Given the description of an element on the screen output the (x, y) to click on. 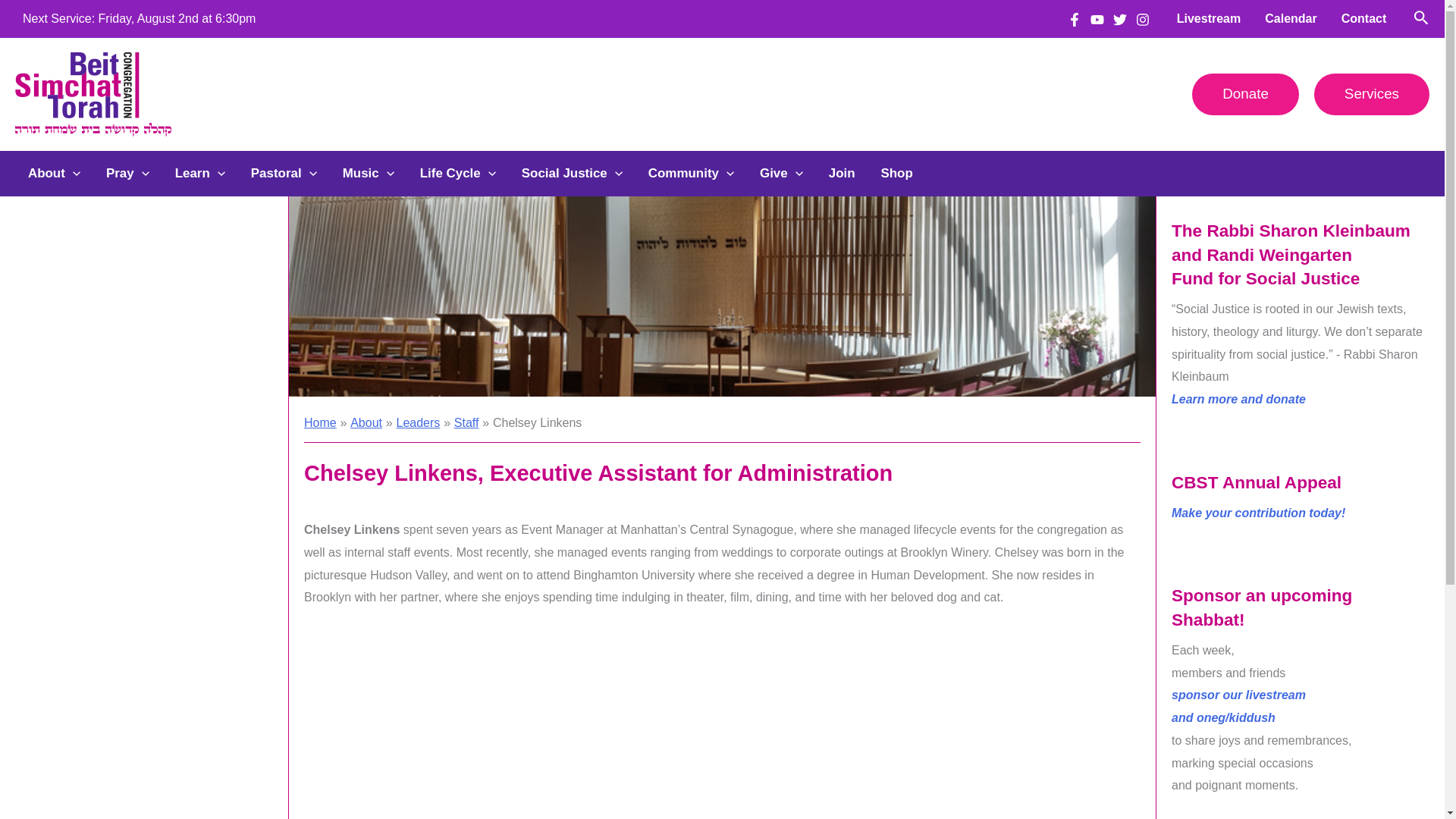
Calendar (1289, 18)
Donate (1245, 94)
About (53, 173)
Livestream (1208, 18)
Services (1371, 94)
Next Service: Friday, August 2nd at 6:30pm (139, 18)
Contact (1364, 18)
